Given the description of an element on the screen output the (x, y) to click on. 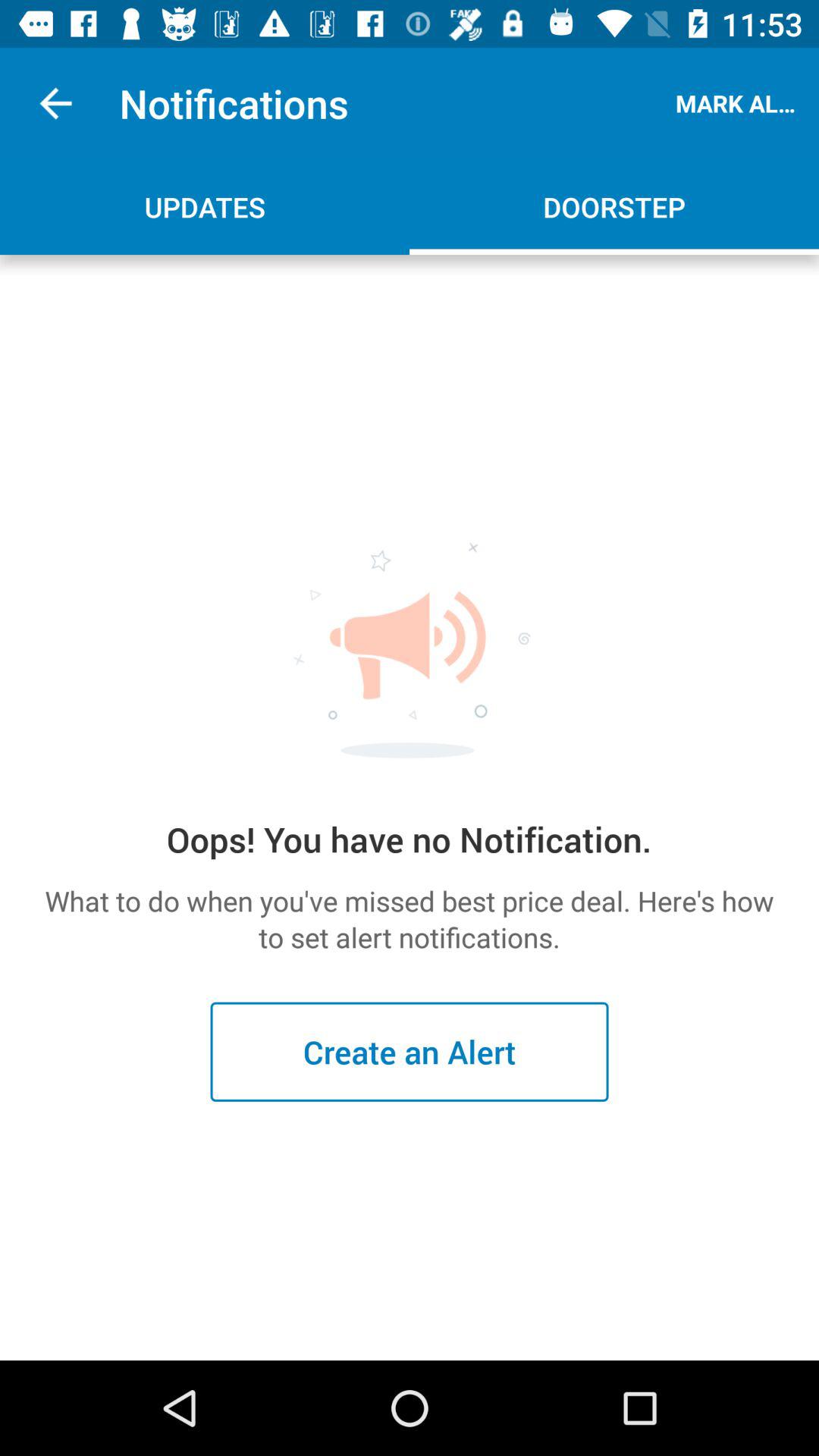
scroll to doorstep item (614, 206)
